Given the description of an element on the screen output the (x, y) to click on. 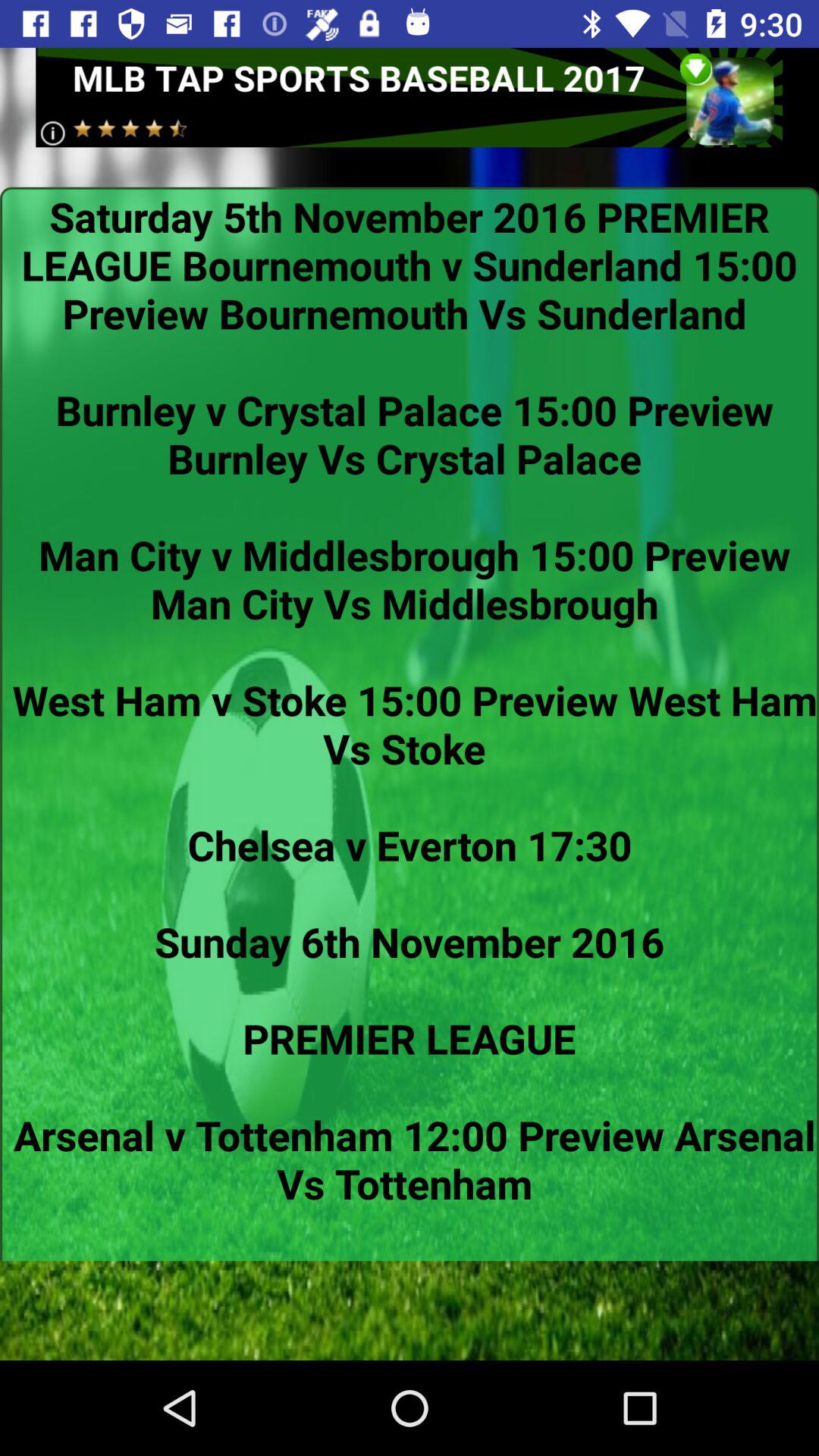
advertisement for mlb tap sports baseball 2017 (408, 97)
